Given the description of an element on the screen output the (x, y) to click on. 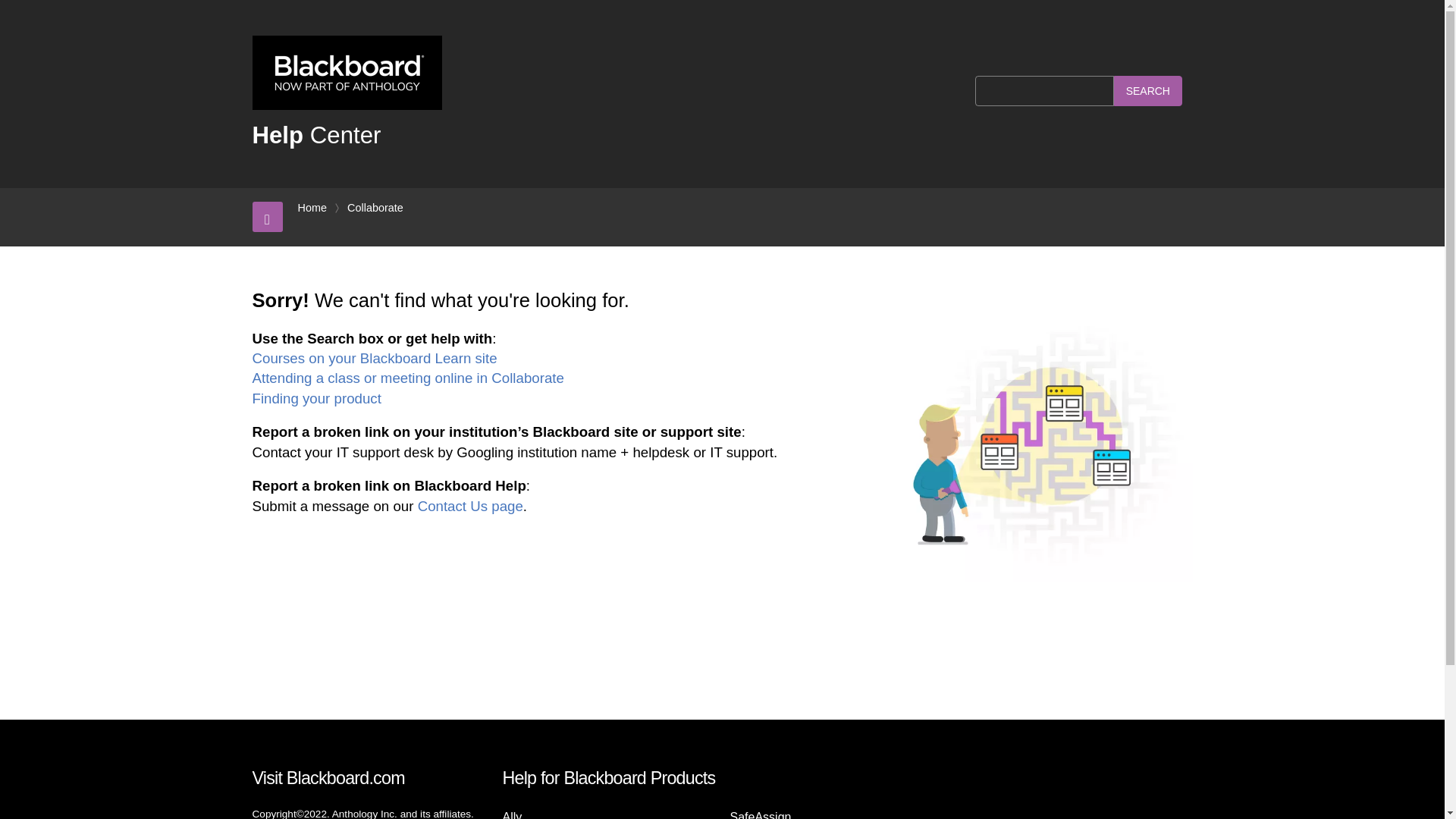
Home (311, 208)
Search (1147, 90)
Search (1147, 90)
Collaborate (375, 208)
Help Center (315, 135)
